Given the description of an element on the screen output the (x, y) to click on. 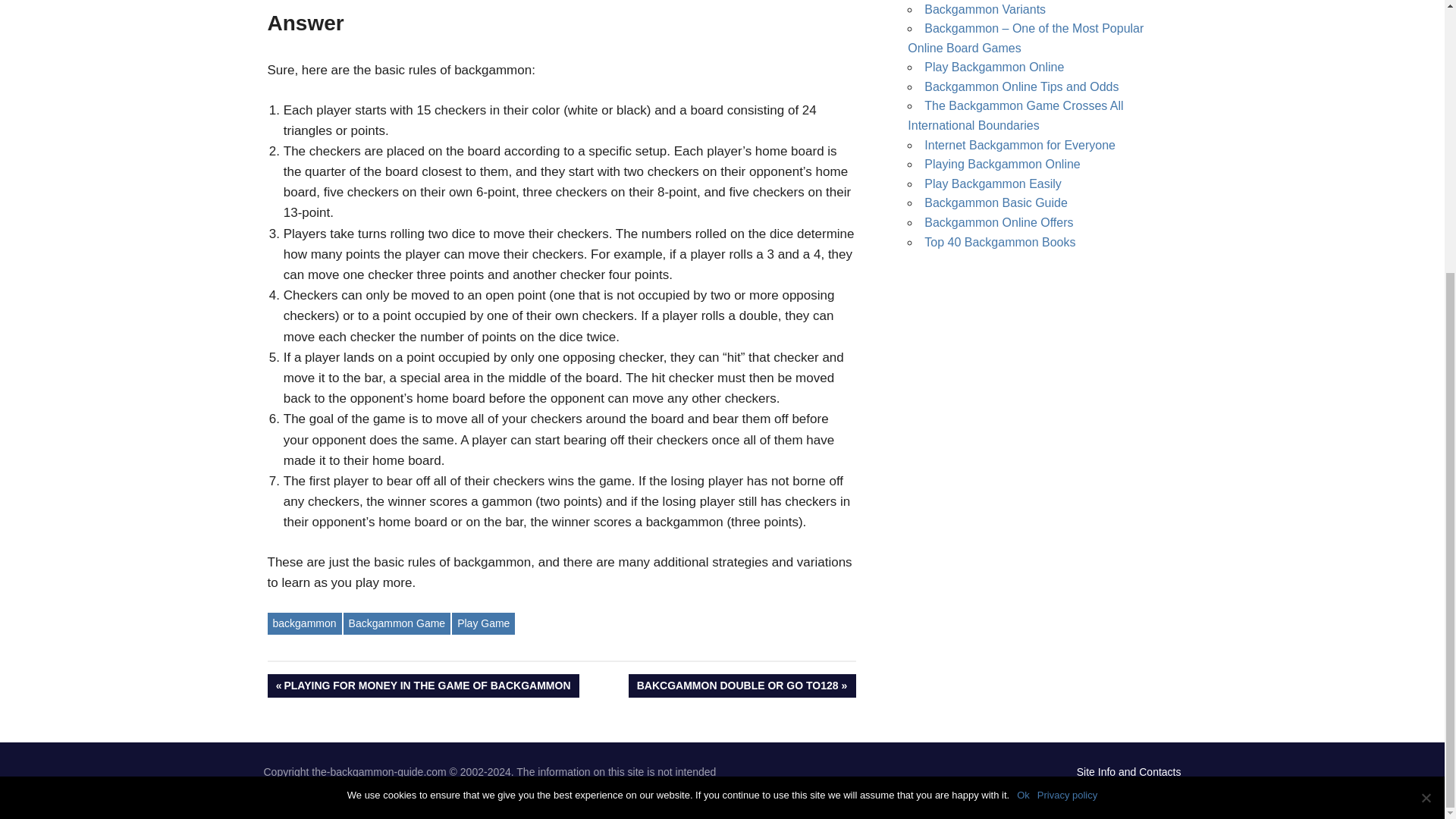
Top 40 Backgammon Books (742, 685)
The Backgammon Game Crosses All International Boundaries (999, 241)
backgammon (1014, 115)
Backgammon Online Tips and Odds (303, 623)
Play Backgammon Easily (1021, 86)
Backgammon Variants (992, 183)
No (984, 9)
Site Info and Contacts (1425, 396)
Backgammon Game (1128, 771)
Play Backgammon Online (397, 623)
Play Game (994, 66)
Backgammon Online Offers (483, 623)
Internet Backgammon for Everyone (998, 222)
Playing Backgammon Online (1019, 144)
